Given the description of an element on the screen output the (x, y) to click on. 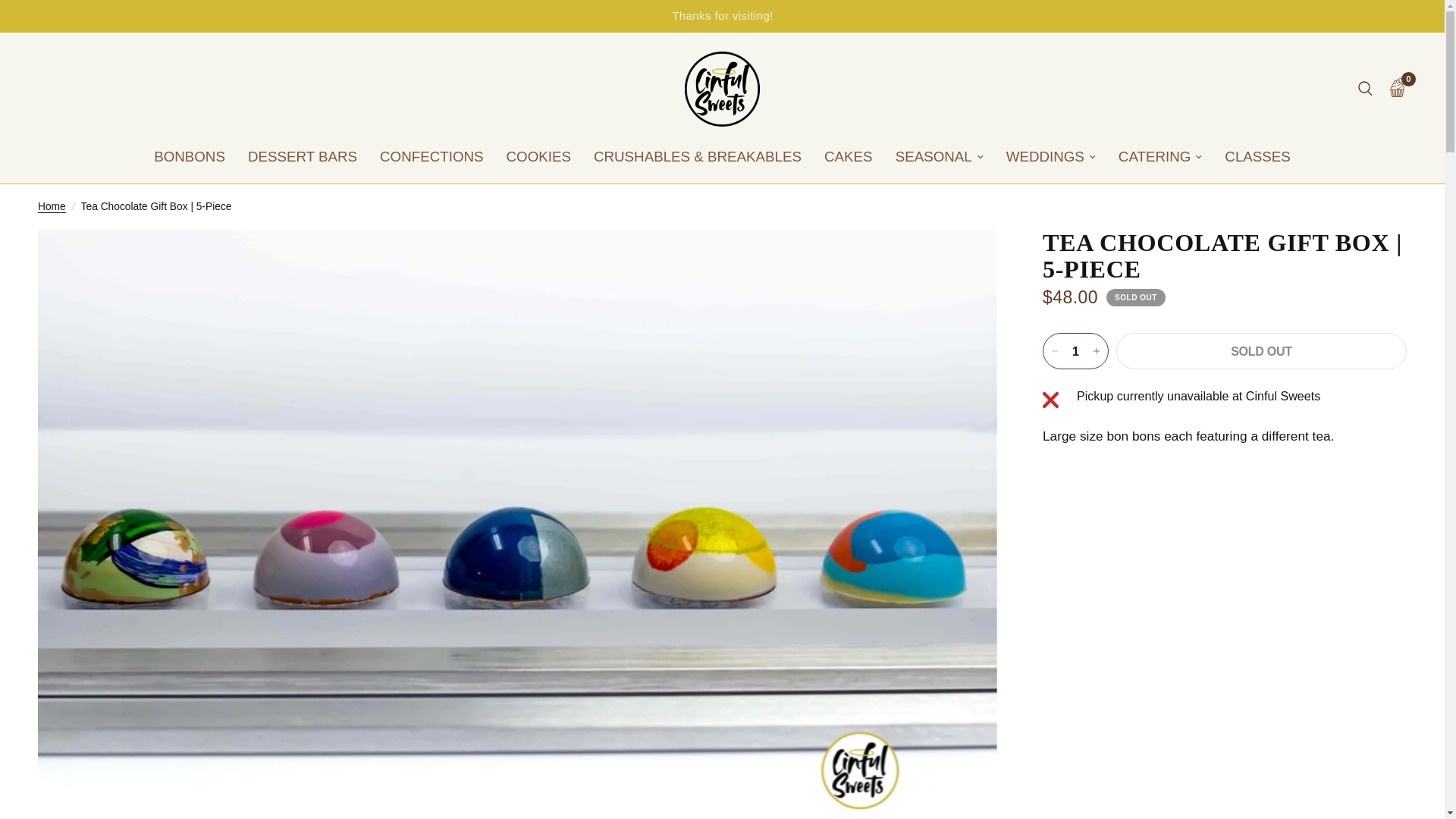
COOKIES (538, 156)
CONFECTIONS (431, 156)
CAKES (848, 156)
BONBONS (189, 156)
SEASONAL (939, 156)
DESSERT BARS (301, 156)
